Given the description of an element on the screen output the (x, y) to click on. 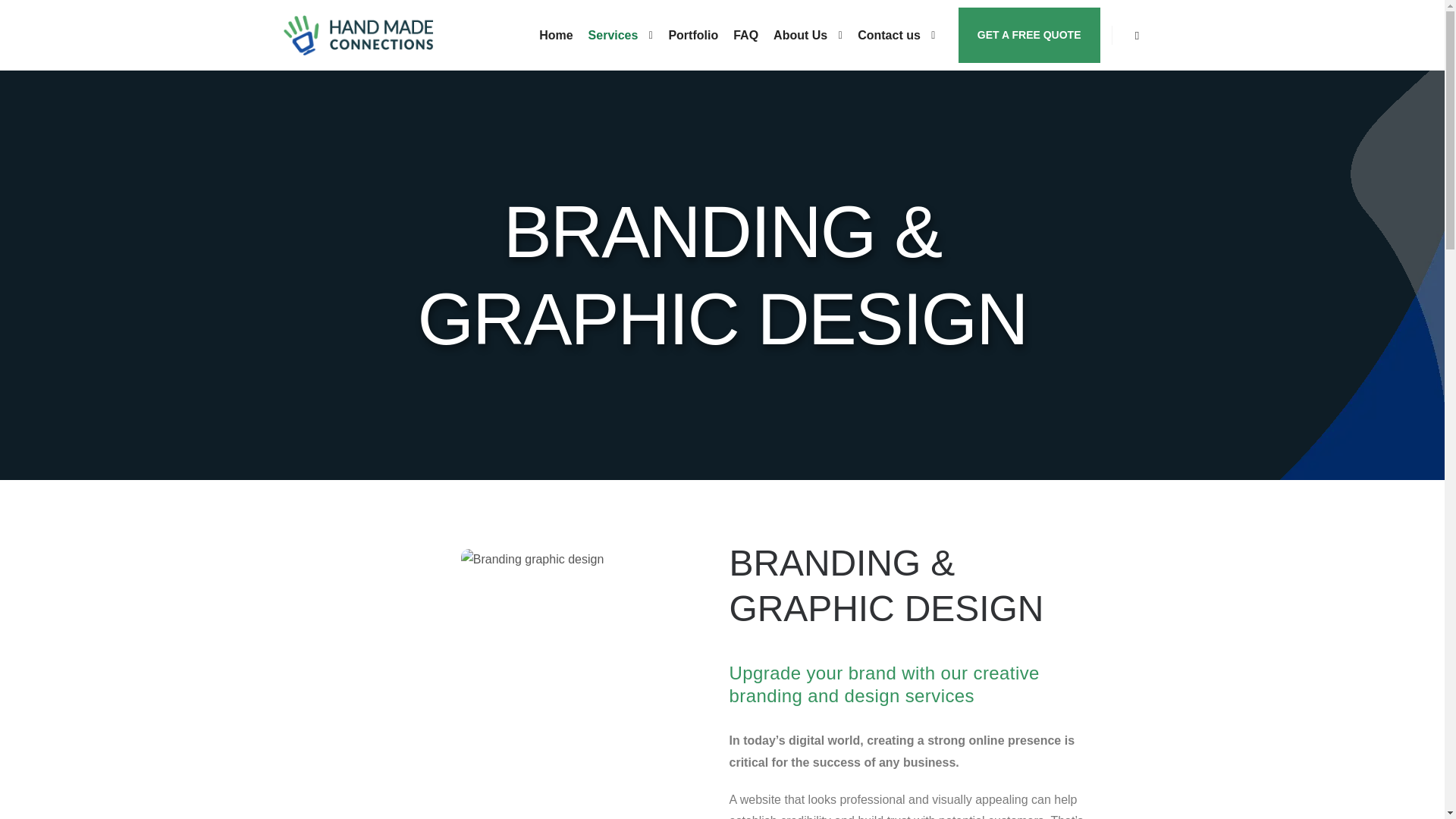
Search (1137, 35)
Portfolio (693, 35)
Contact us (886, 35)
HandMade Connections (357, 35)
About Us (797, 35)
GET A FREE QUOTE (1029, 35)
Branding graphic design (532, 558)
Services (611, 35)
